Given the description of an element on the screen output the (x, y) to click on. 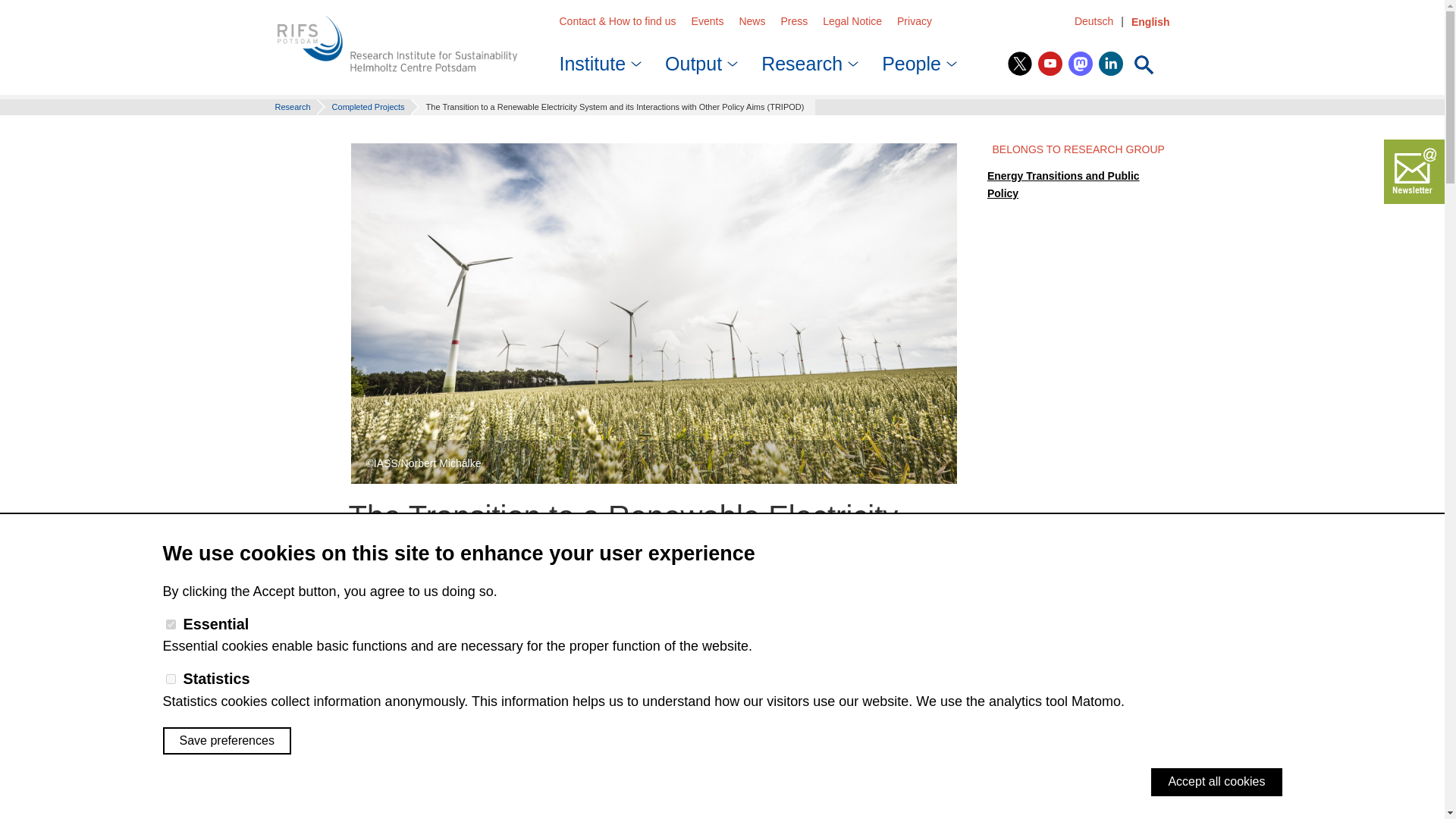
essential (169, 624)
Home (398, 44)
matomo (169, 678)
Privacy (913, 21)
People (915, 59)
Legal Notice (852, 21)
Events (707, 21)
zur Seite: Research (294, 106)
Twitter X (1019, 63)
YouTube (1050, 63)
Output (697, 59)
Mastodon (1080, 63)
News (751, 21)
Press (794, 21)
Institute (597, 59)
